Given the description of an element on the screen output the (x, y) to click on. 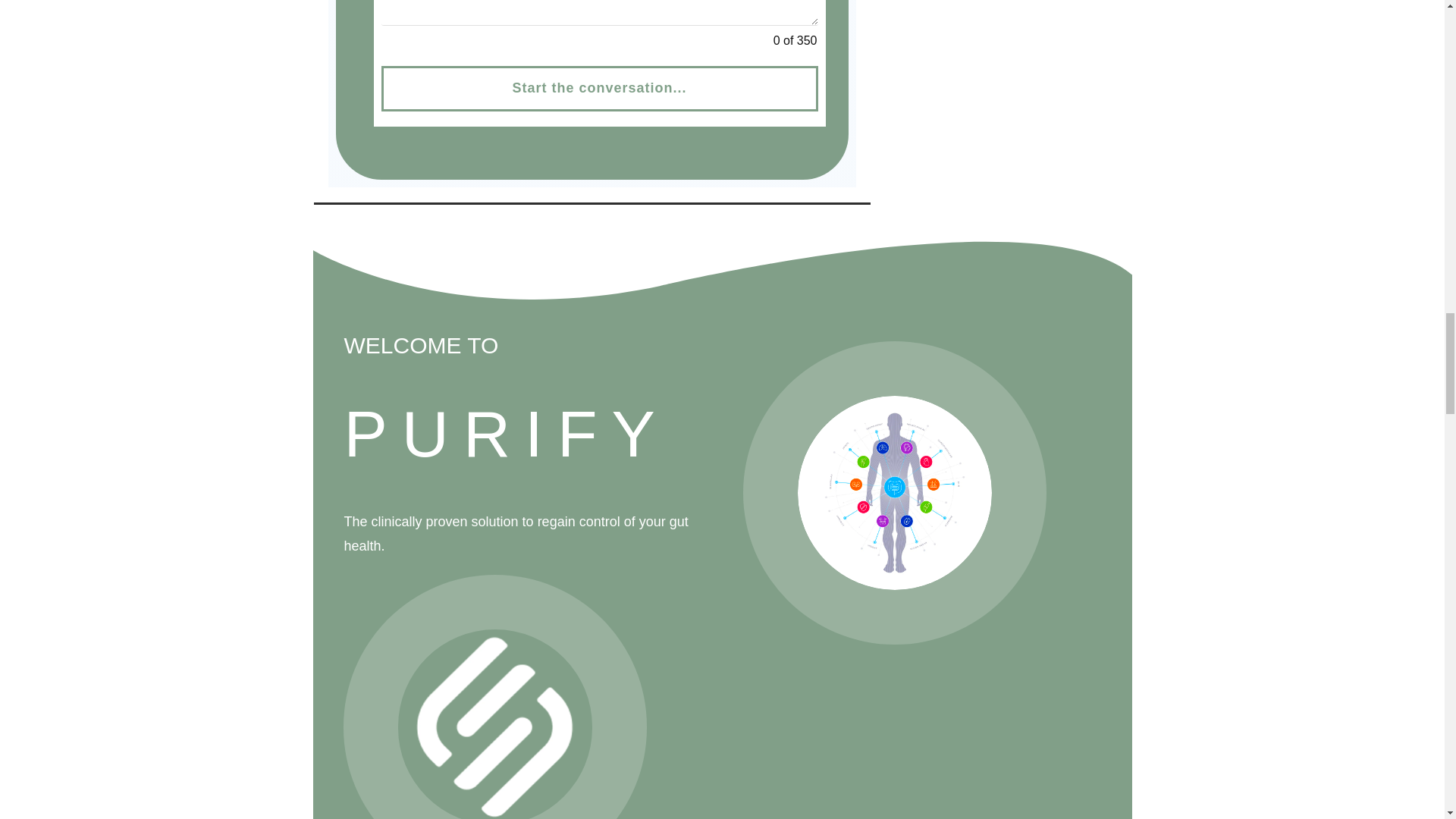
Start the conversation... (598, 88)
